Given the description of an element on the screen output the (x, y) to click on. 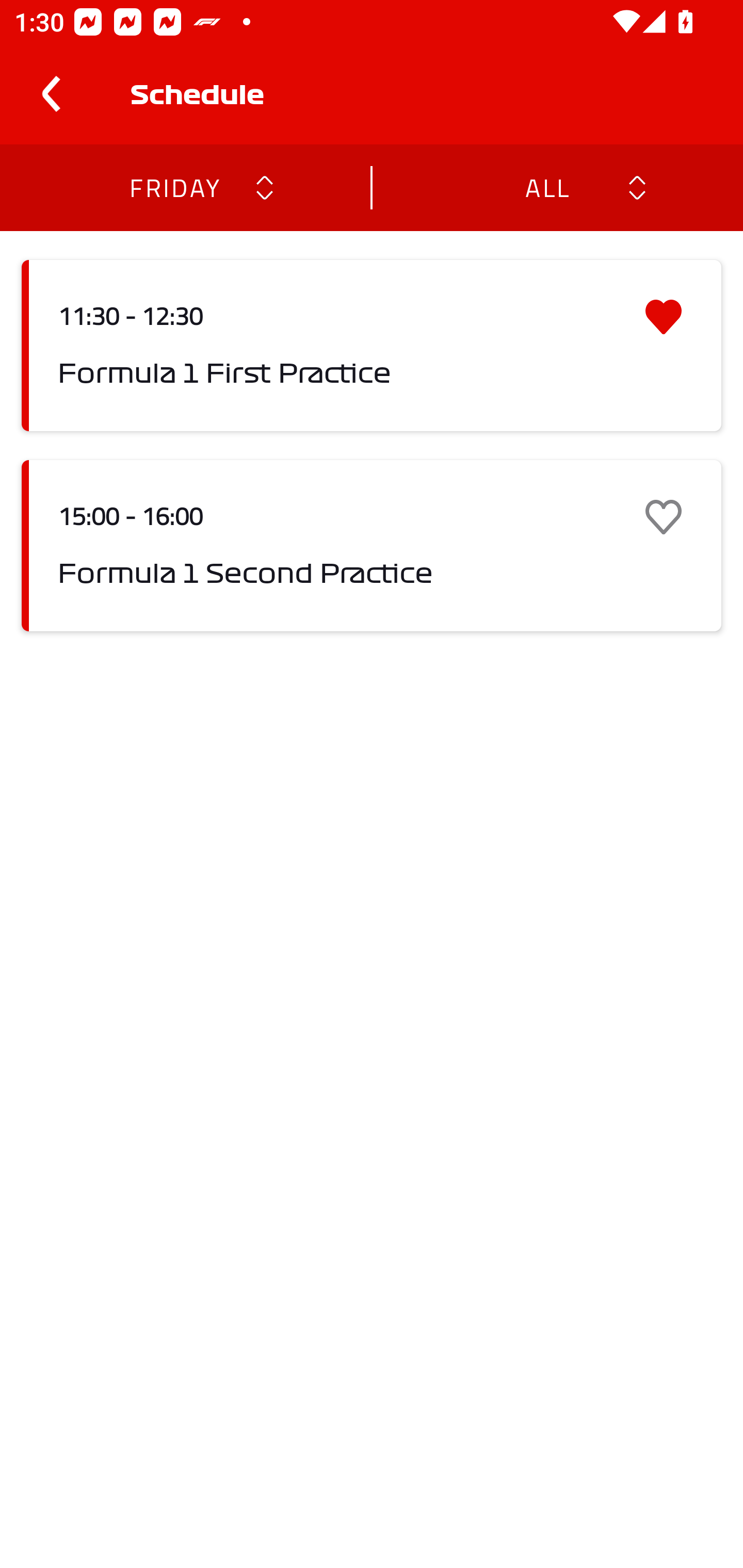
Navigate up (50, 93)
FRIDAY (174, 187)
ALL (546, 187)
11:30 - 12:30 Formula 1 First Practice (371, 345)
15:00 - 16:00 Formula 1 Second Practice (371, 545)
